Given the description of an element on the screen output the (x, y) to click on. 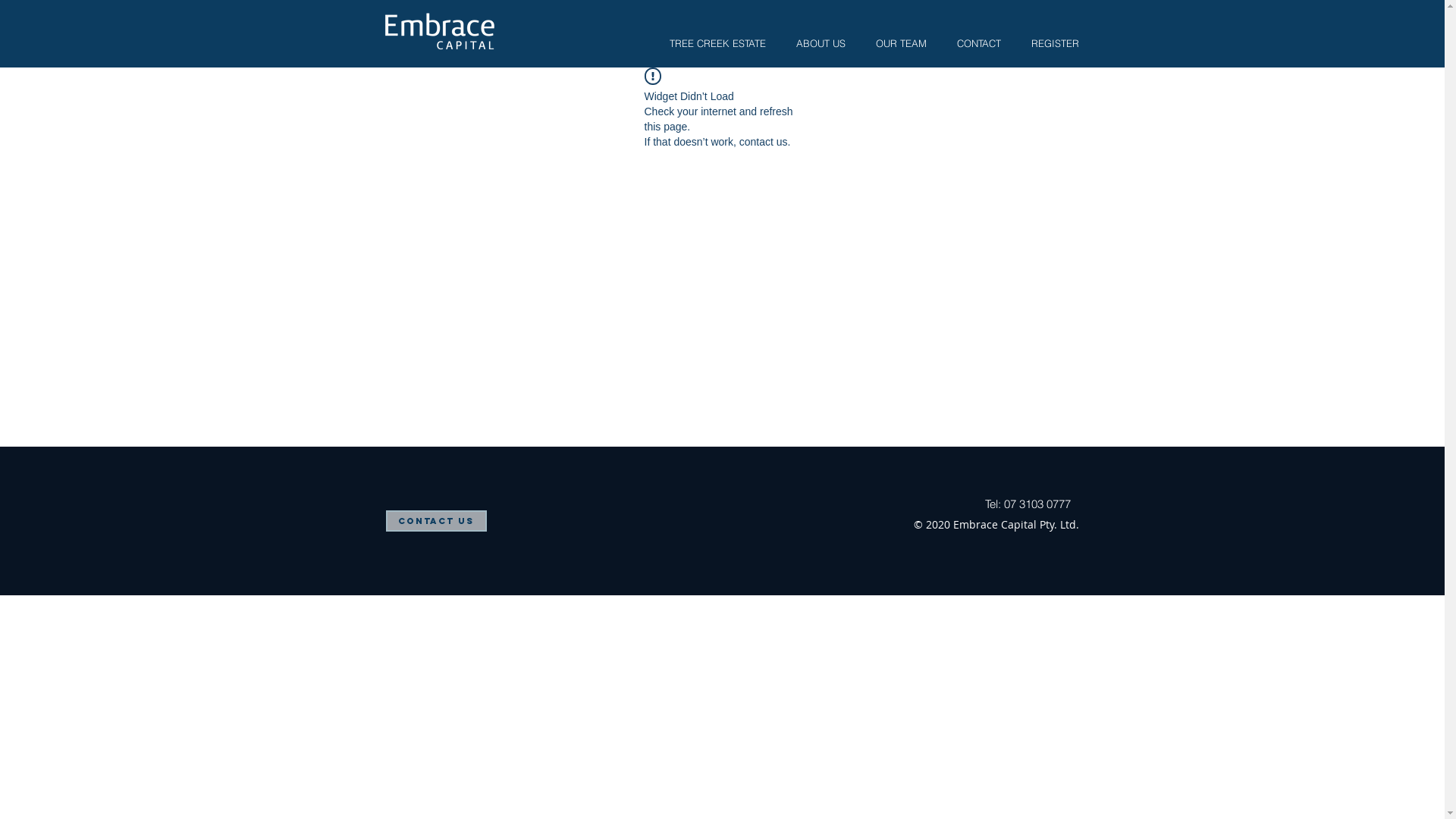
CONTACT Element type: text (978, 43)
TREE CREEK ESTATE Element type: text (716, 43)
CONTACT US Element type: text (435, 520)
OUR TEAM Element type: text (900, 43)
REGISTER Element type: text (1055, 43)
ABOUT US Element type: text (820, 43)
